Given the description of an element on the screen output the (x, y) to click on. 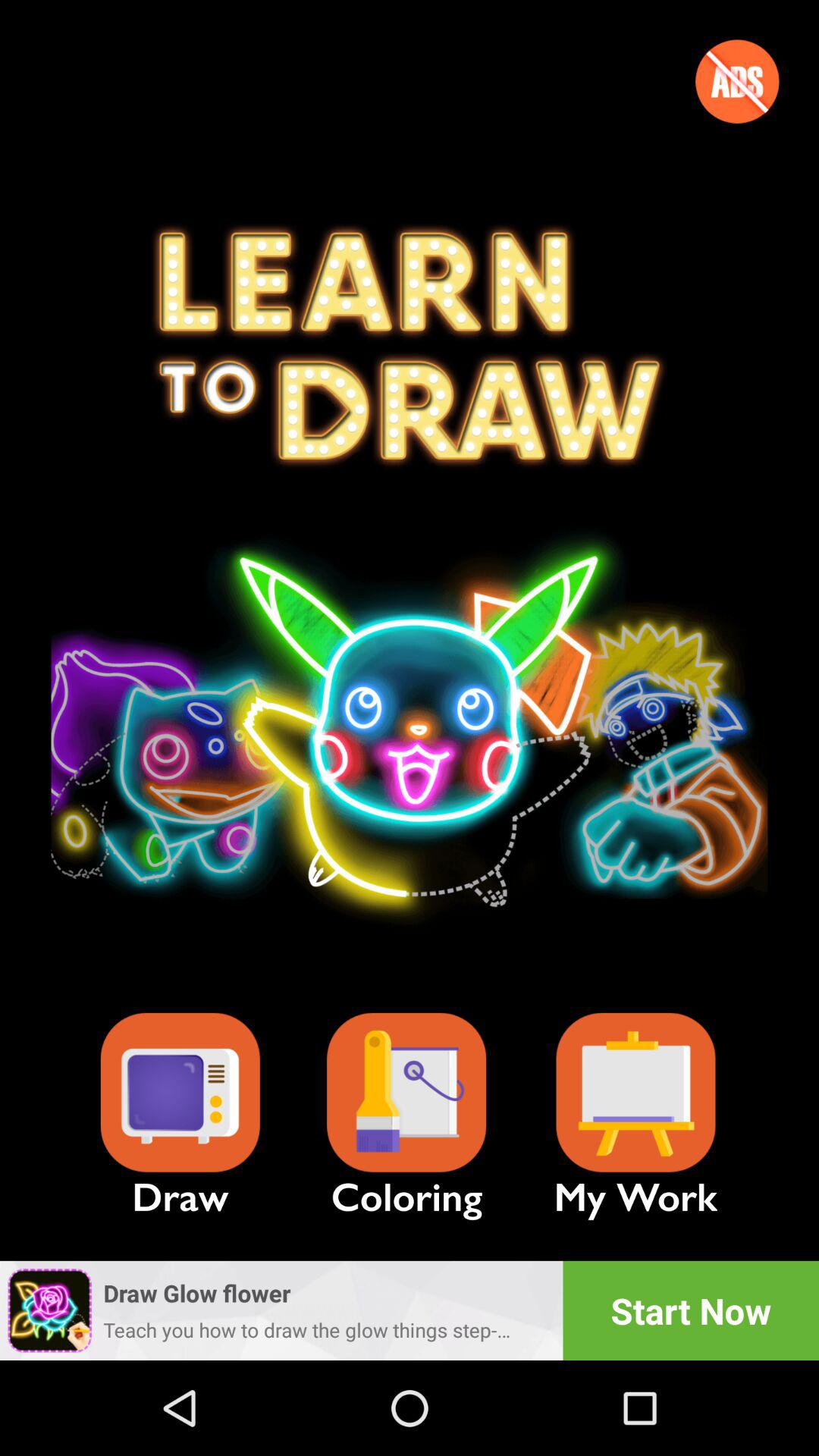
go to draw (179, 1092)
